Given the description of an element on the screen output the (x, y) to click on. 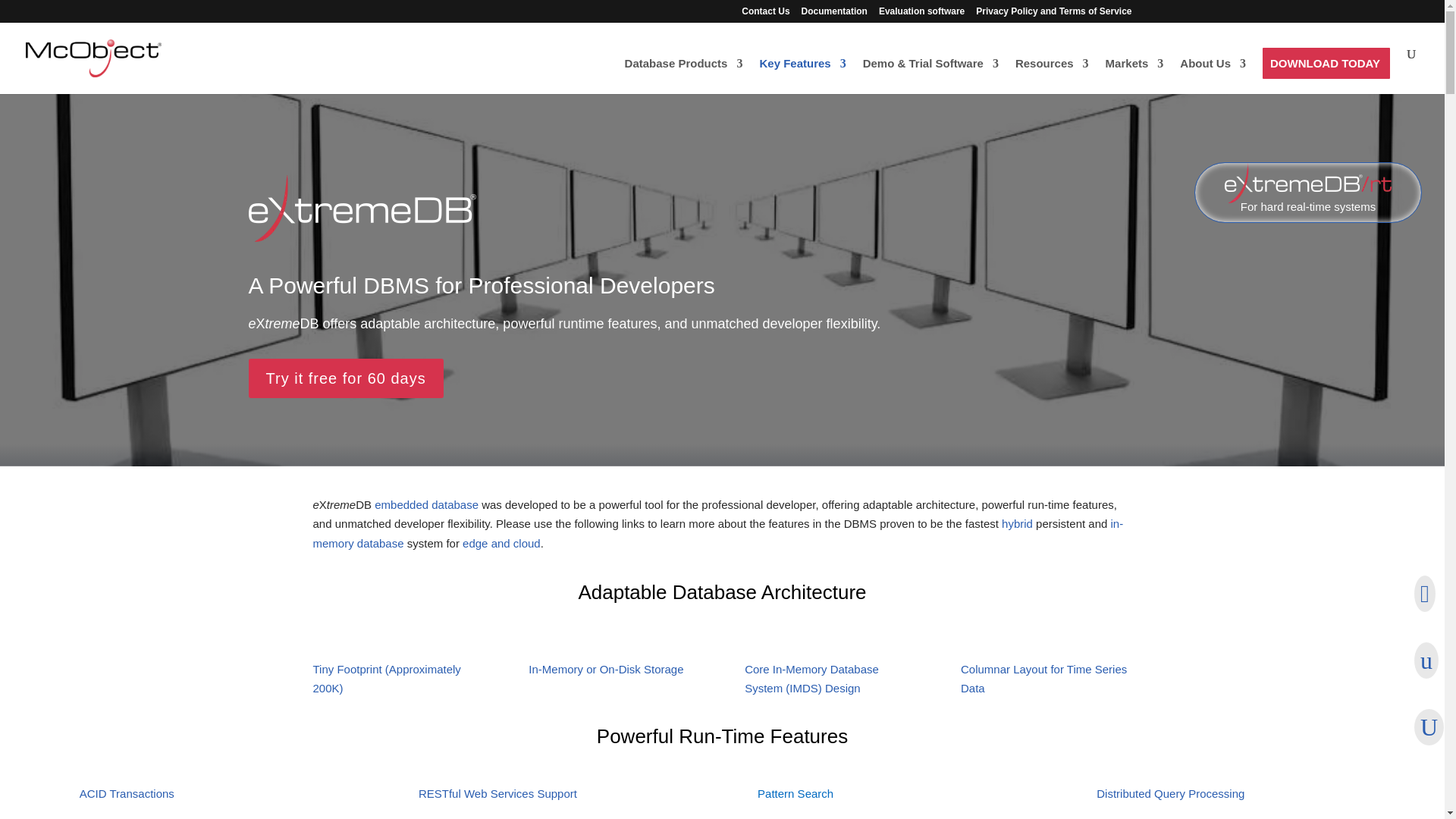
Contact Us (765, 14)
Evaluation software (921, 14)
Database Products (683, 76)
Documentation (834, 14)
Key Features (801, 76)
Privacy Policy and Terms of Service (1053, 14)
